Given the description of an element on the screen output the (x, y) to click on. 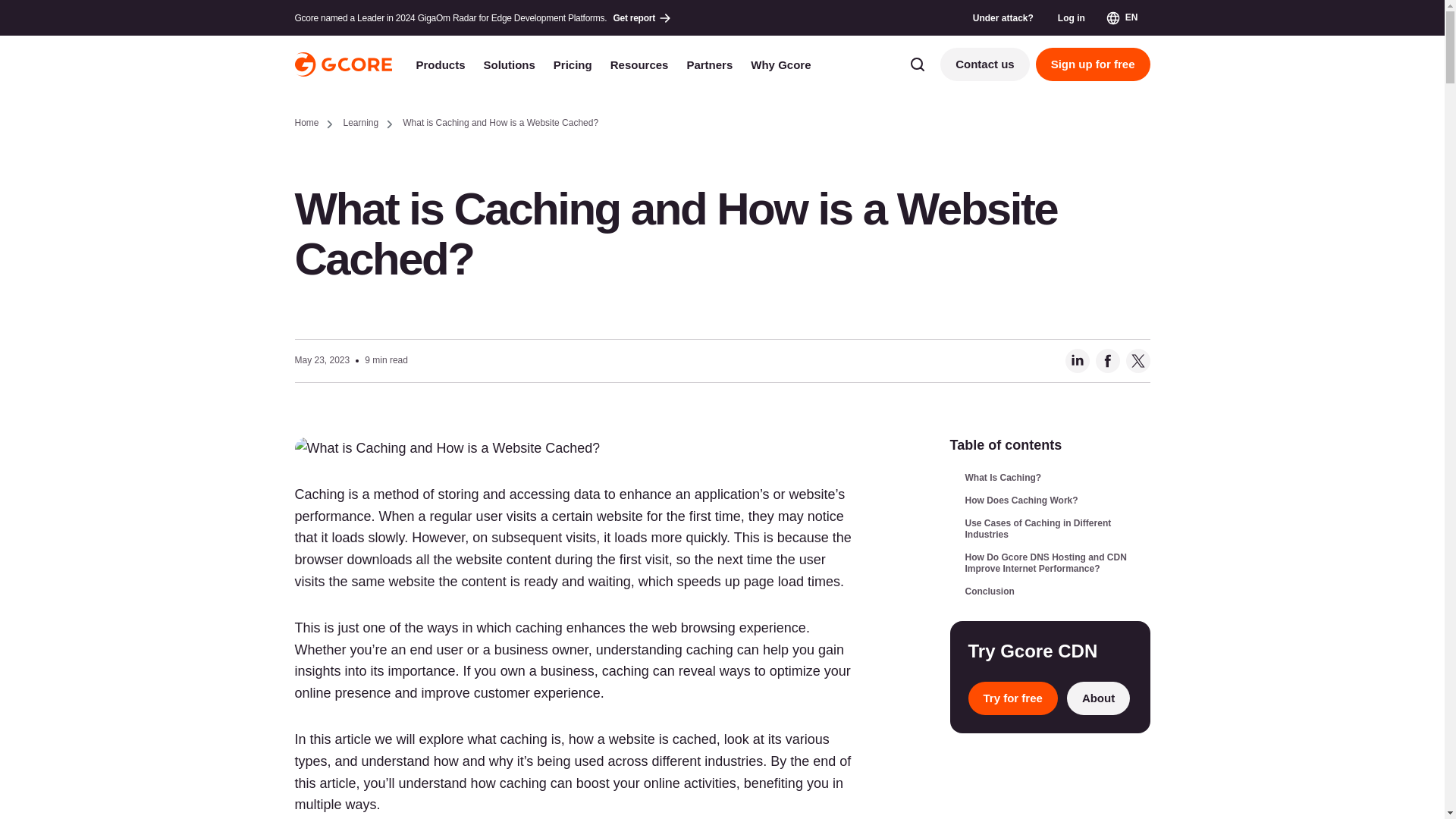
Under attack? (1002, 17)
Get report (642, 17)
Log in (1071, 17)
